Given the description of an element on the screen output the (x, y) to click on. 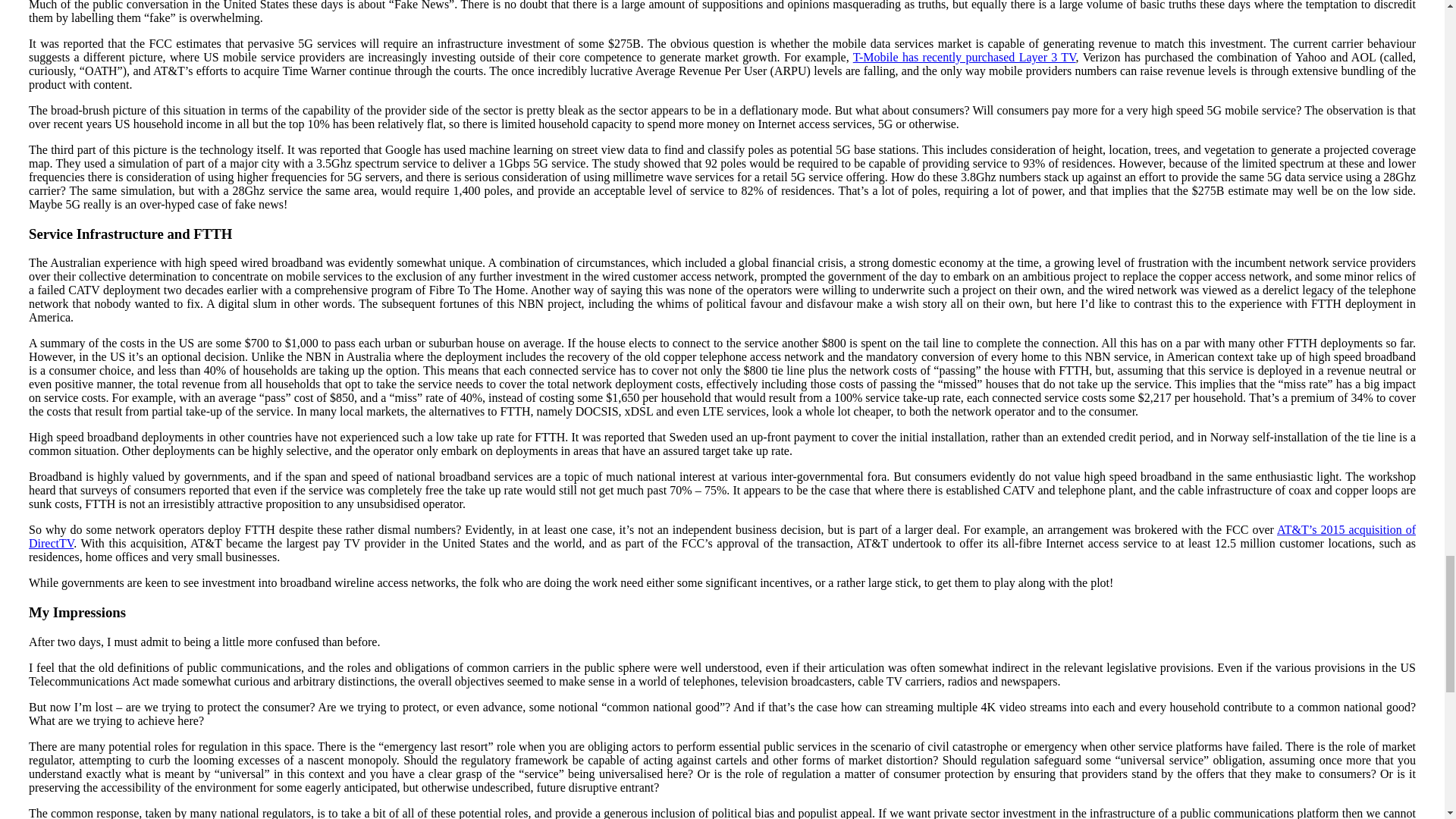
T-Mobile has recently purchased Layer 3 TV (964, 56)
